Given the description of an element on the screen output the (x, y) to click on. 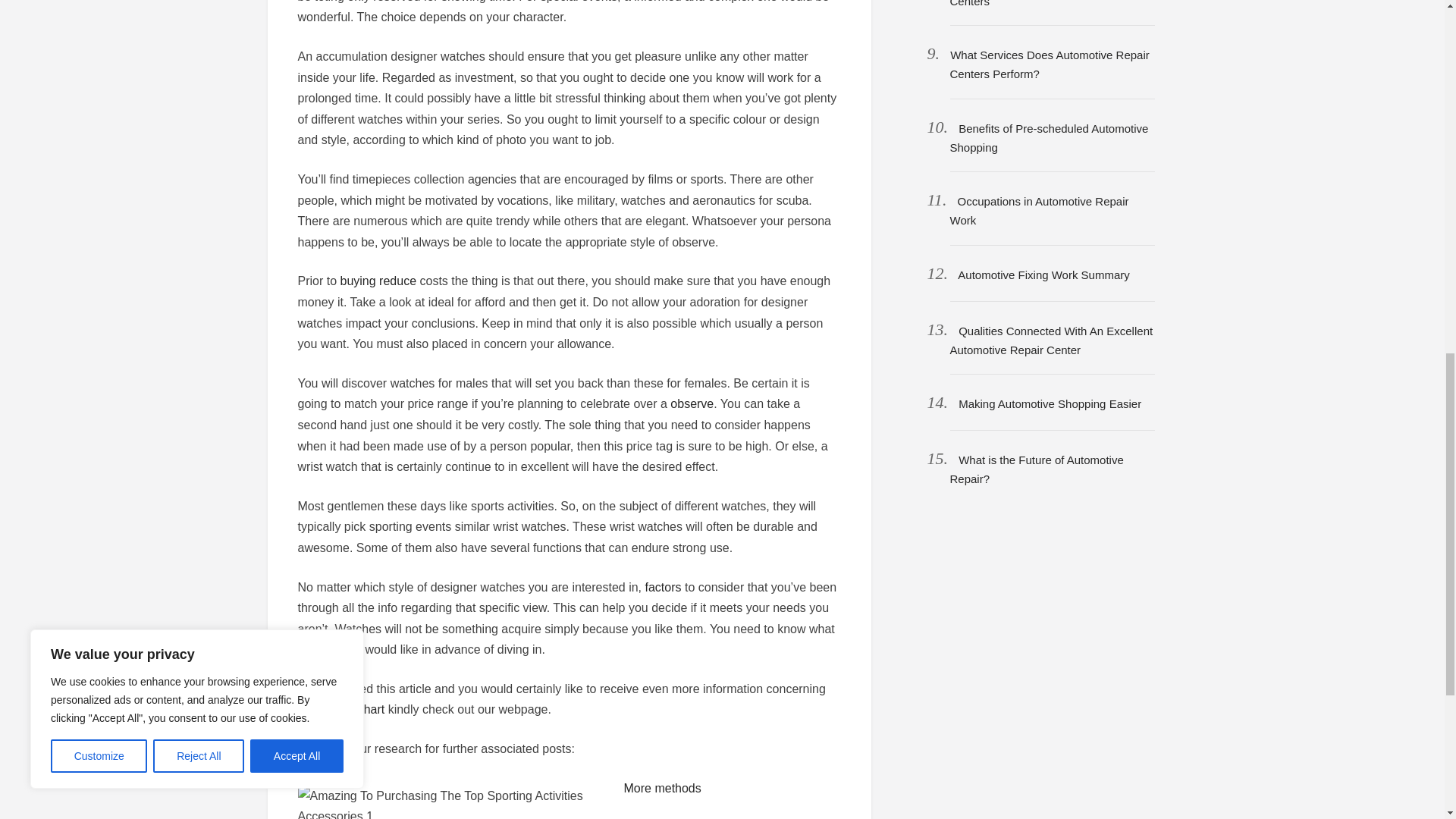
observe (691, 403)
More methods (661, 788)
factors (663, 586)
watch size chart (340, 708)
buying reduce (378, 280)
